Given the description of an element on the screen output the (x, y) to click on. 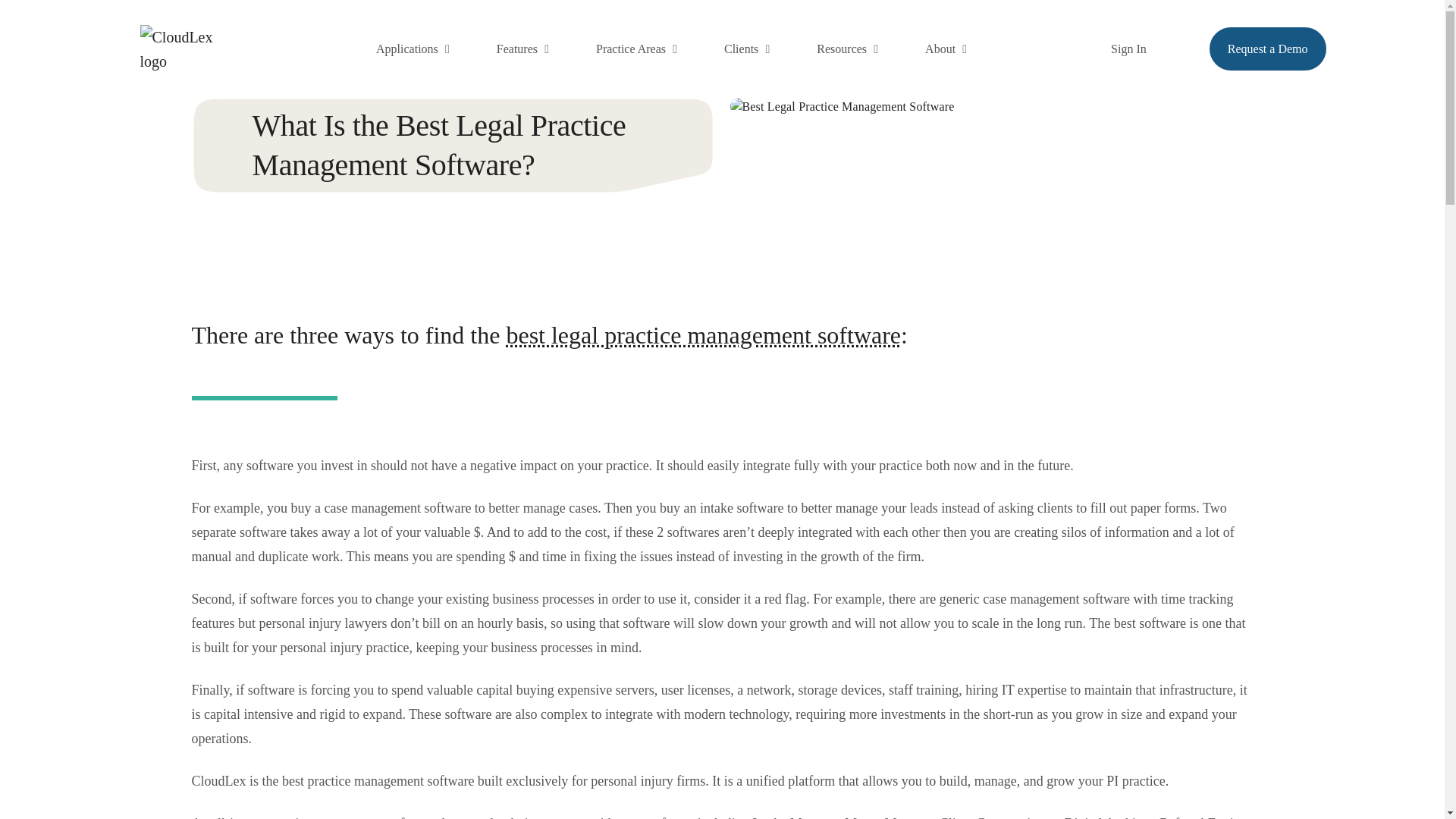
Features (518, 48)
Applications (409, 48)
Practice Areas (632, 48)
Applications (409, 48)
CloudLex logo (185, 48)
